Given the description of an element on the screen output the (x, y) to click on. 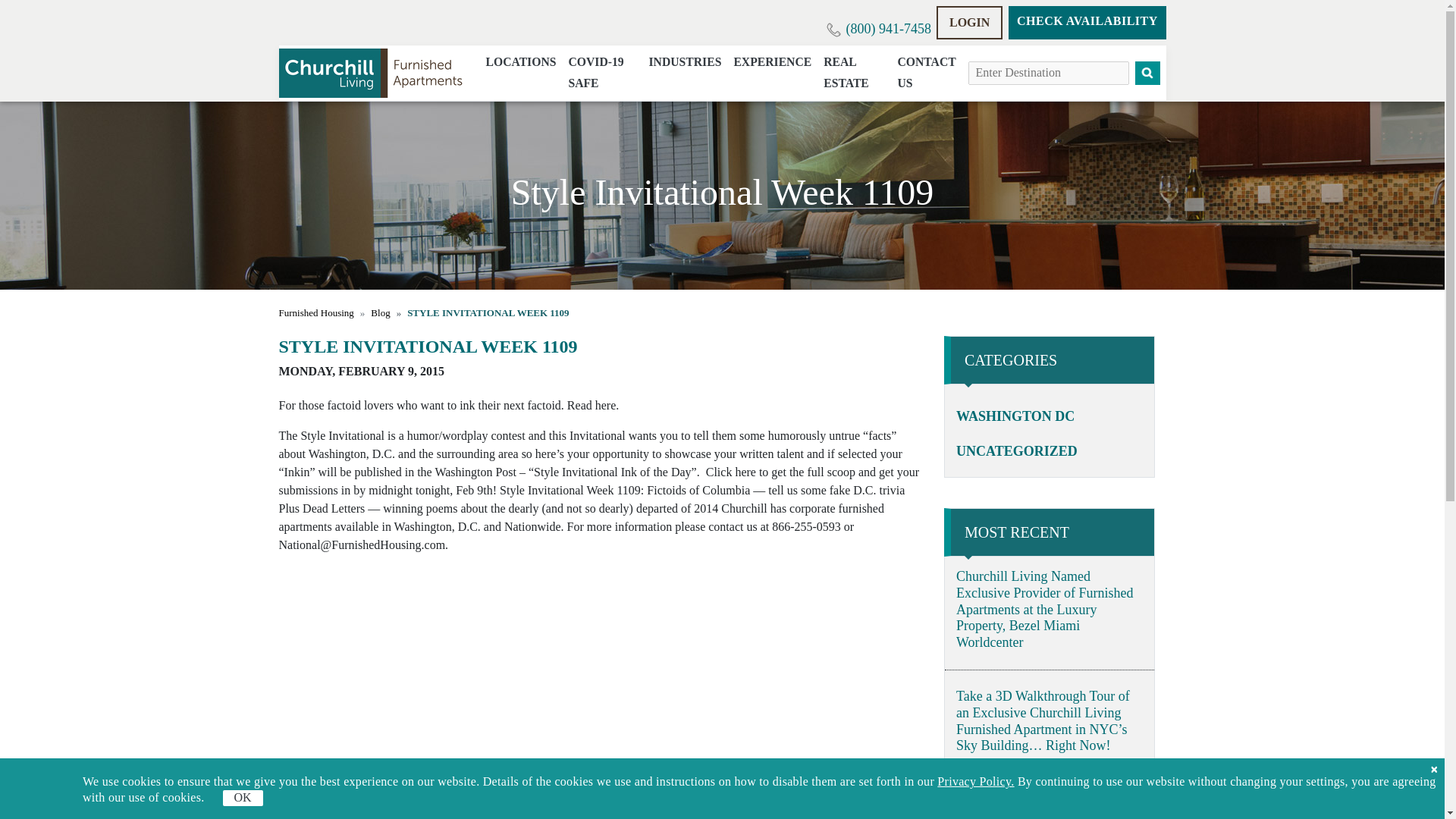
LOGIN (969, 22)
LOCATIONS (520, 61)
CHECK AVAILABILITY (1087, 22)
Blog (380, 312)
CONTACT US (925, 72)
Churchill Living (373, 72)
. (316, 312)
INDUSTRIES (684, 61)
WASHINGTON DC (1015, 416)
EXPERIENCE (771, 61)
COVID-19 SAFE (602, 72)
UNCATEGORIZED (1016, 450)
